Given the description of an element on the screen output the (x, y) to click on. 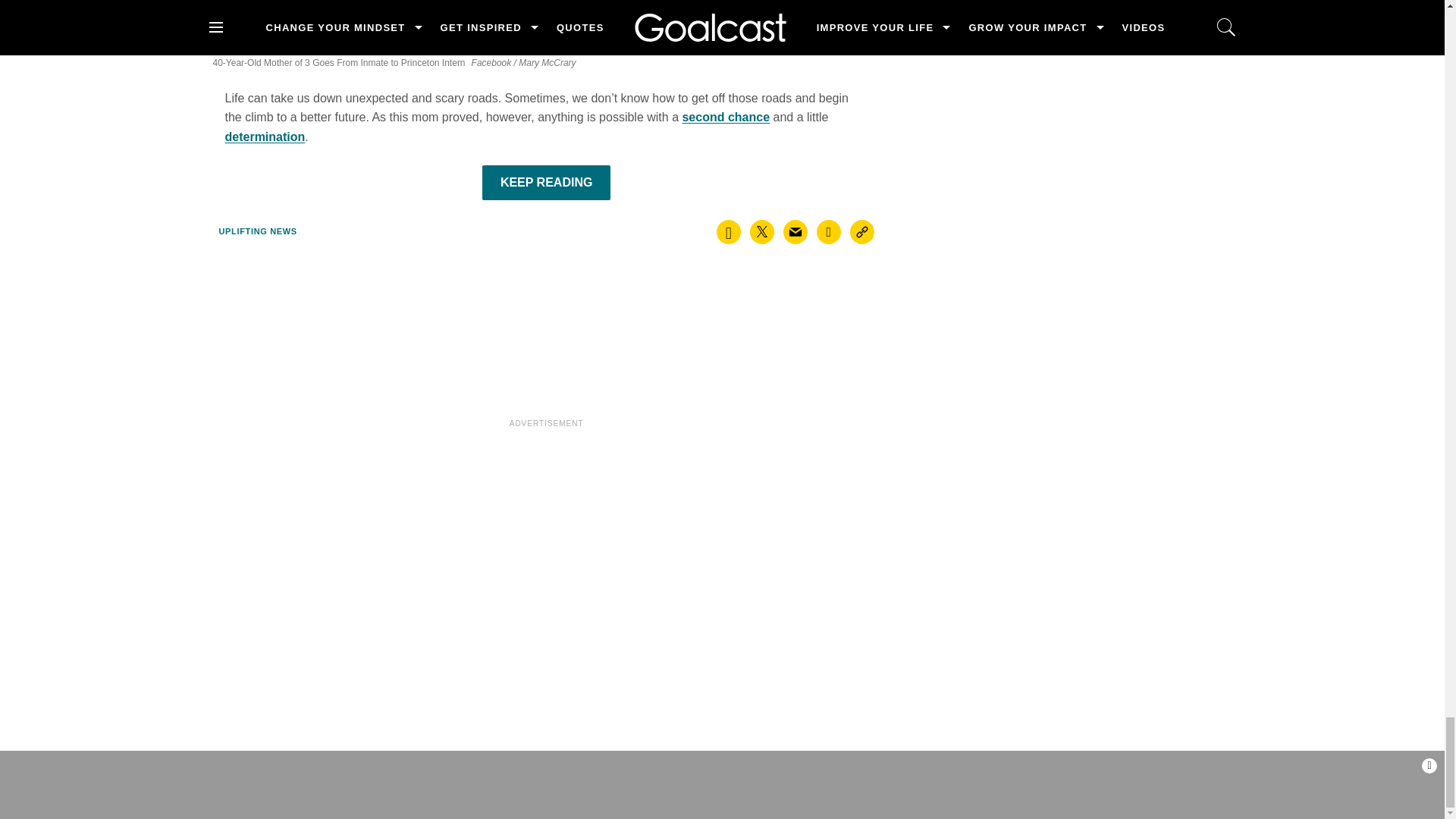
Copy this link to clipboard (862, 232)
